Given the description of an element on the screen output the (x, y) to click on. 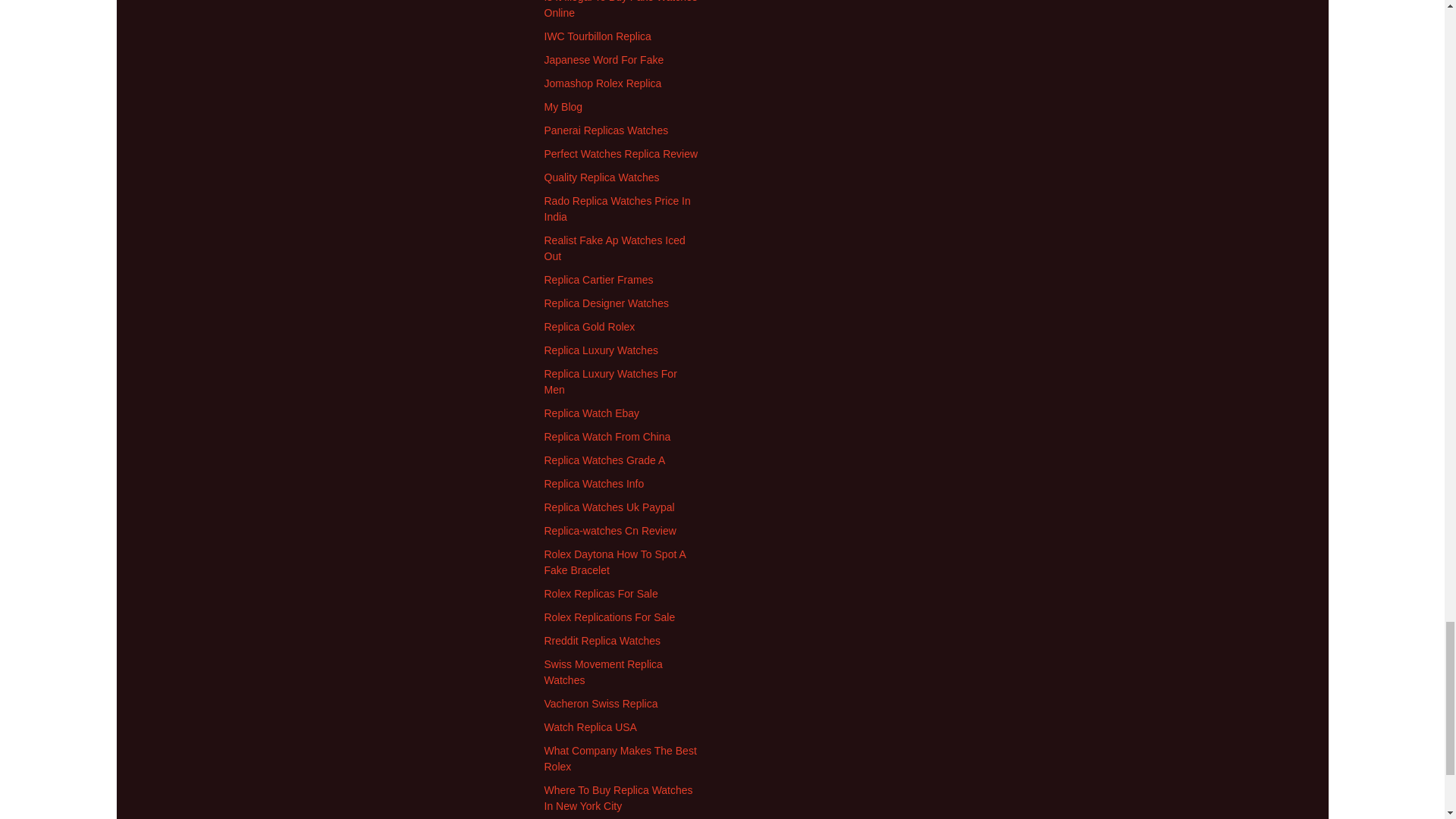
Is It Illegal To Buy Fake Watches Online (620, 9)
IWC Tourbillon Replica (597, 36)
Japanese Word For Fake (603, 60)
